Given the description of an element on the screen output the (x, y) to click on. 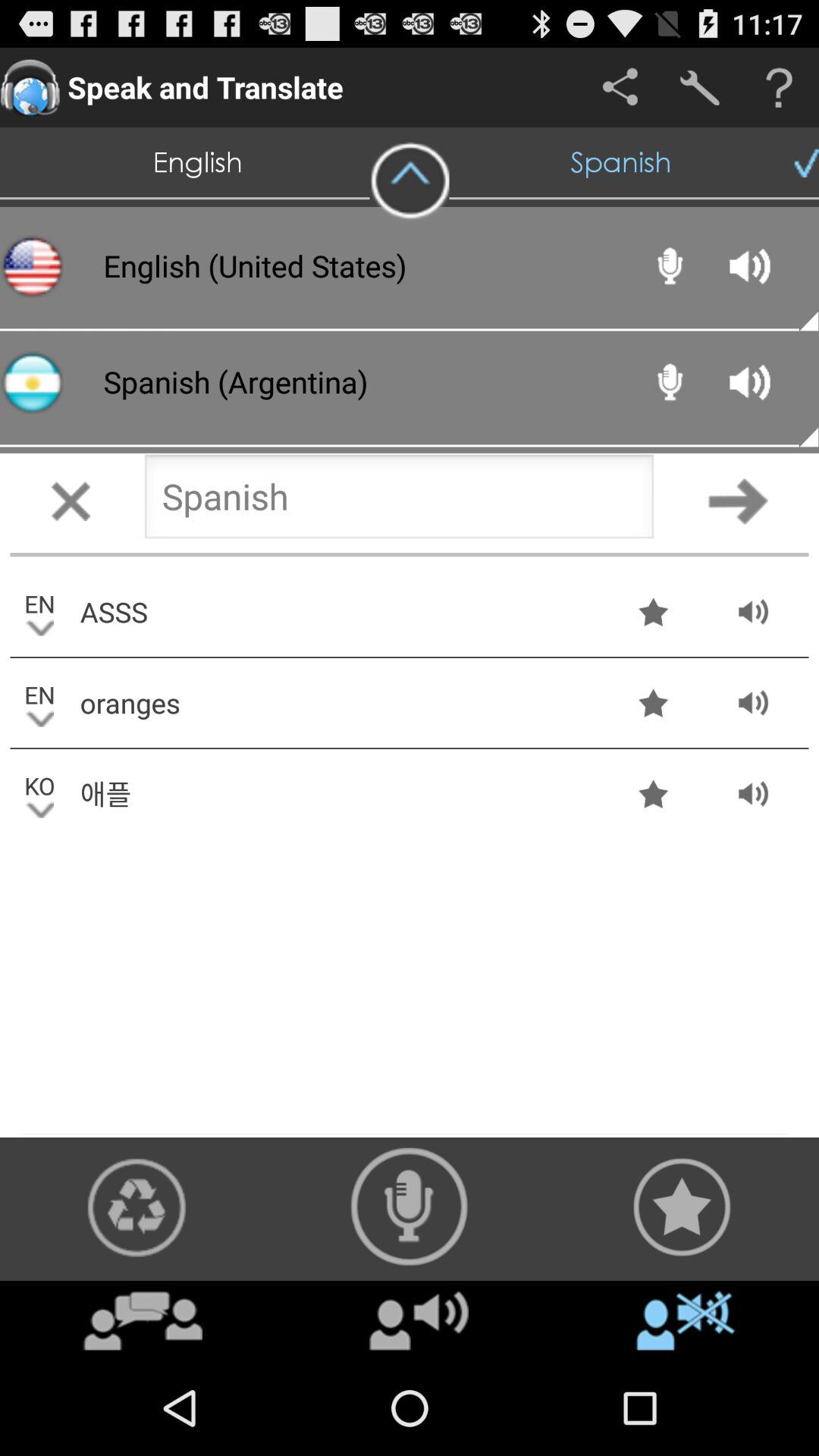
select the   item (409, 181)
